Given the description of an element on the screen output the (x, y) to click on. 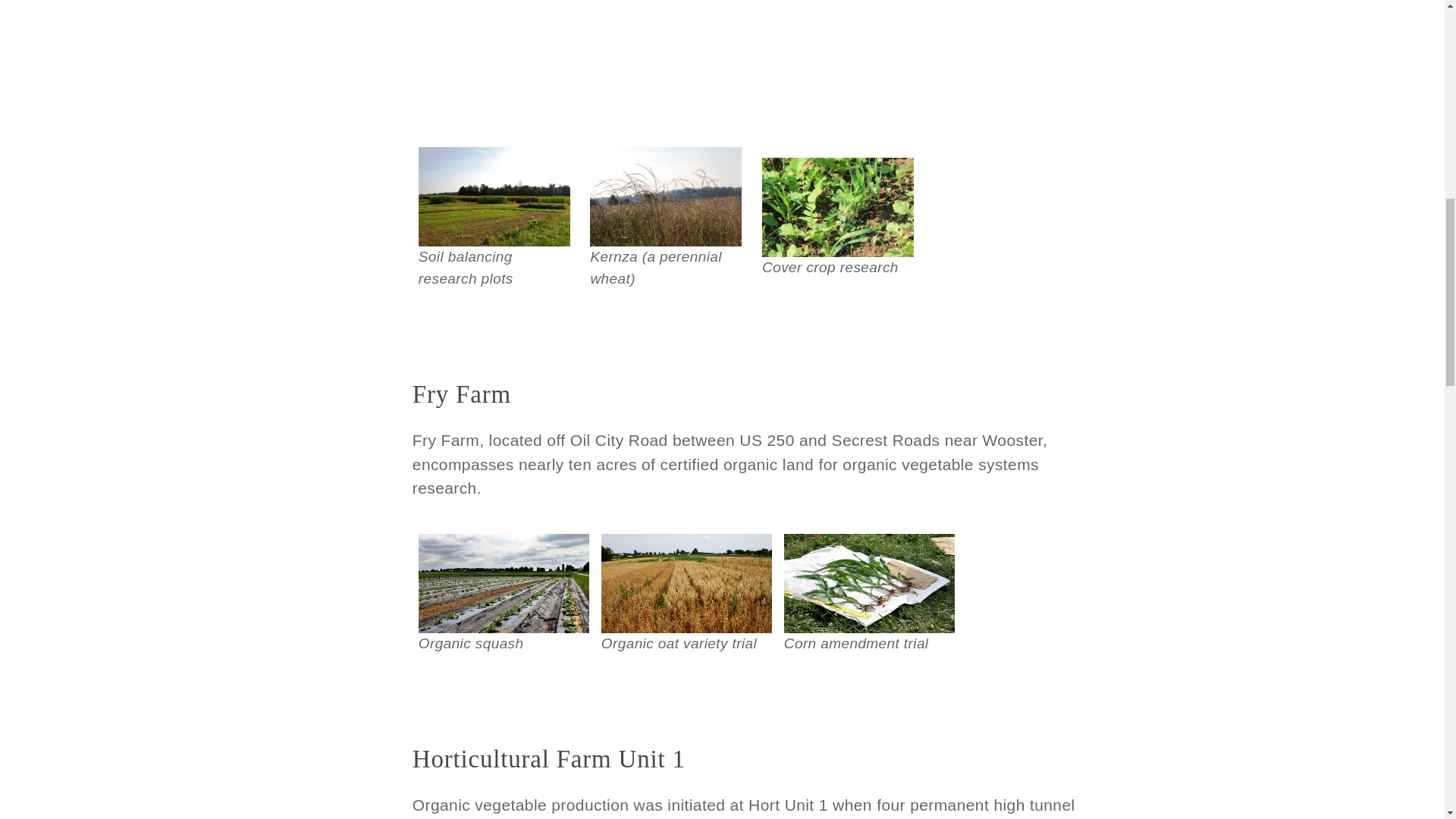
Cover crop research (837, 207)
Corn amendment trial (869, 583)
Organic squash (504, 583)
Soil balancing research plots (494, 196)
Organic oat variety trial (686, 583)
